Given the description of an element on the screen output the (x, y) to click on. 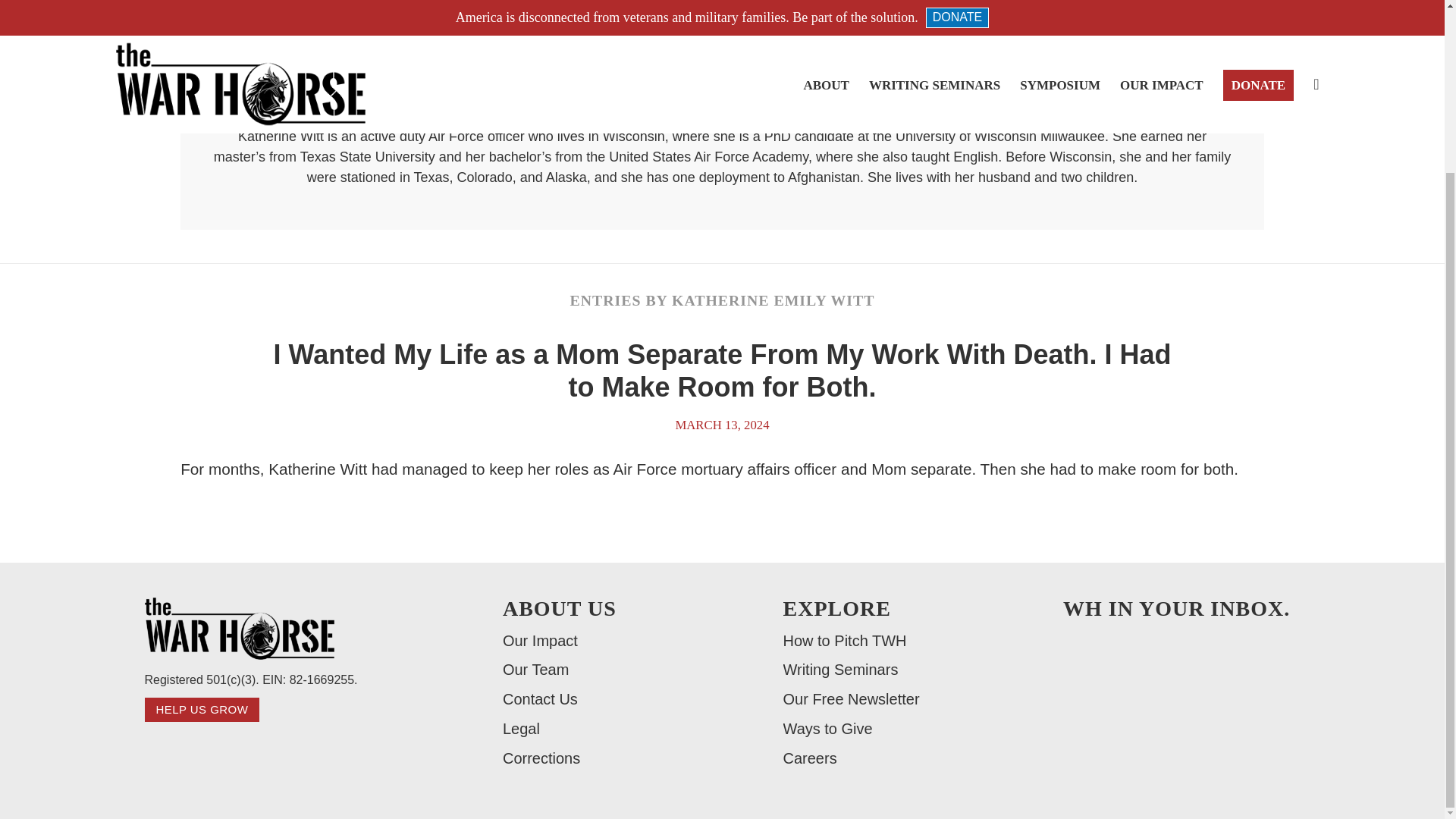
How to Pitch TWH (887, 641)
Legal (607, 729)
Careers (887, 758)
Writing Seminars (887, 670)
Our Impact (607, 641)
HELP US GROW (201, 709)
Our Free Newsletter (887, 699)
Contact Us (607, 699)
Our Team (607, 670)
